Given the description of an element on the screen output the (x, y) to click on. 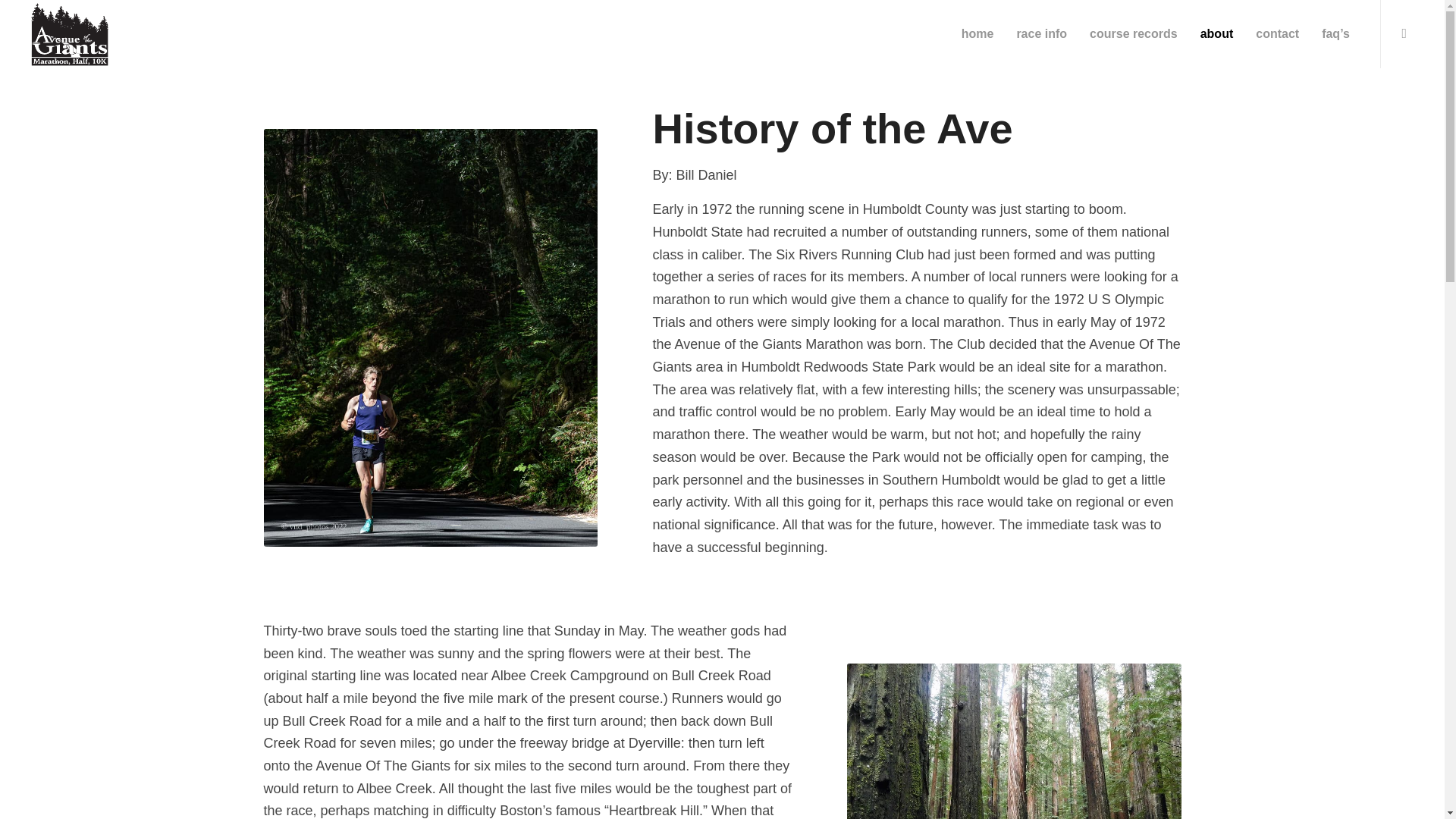
course records (1133, 33)
Avenue-of-the-Giants-Web-Logo (70, 33)
contact (1277, 33)
race info (1041, 33)
Facebook (1404, 33)
